Given the description of an element on the screen output the (x, y) to click on. 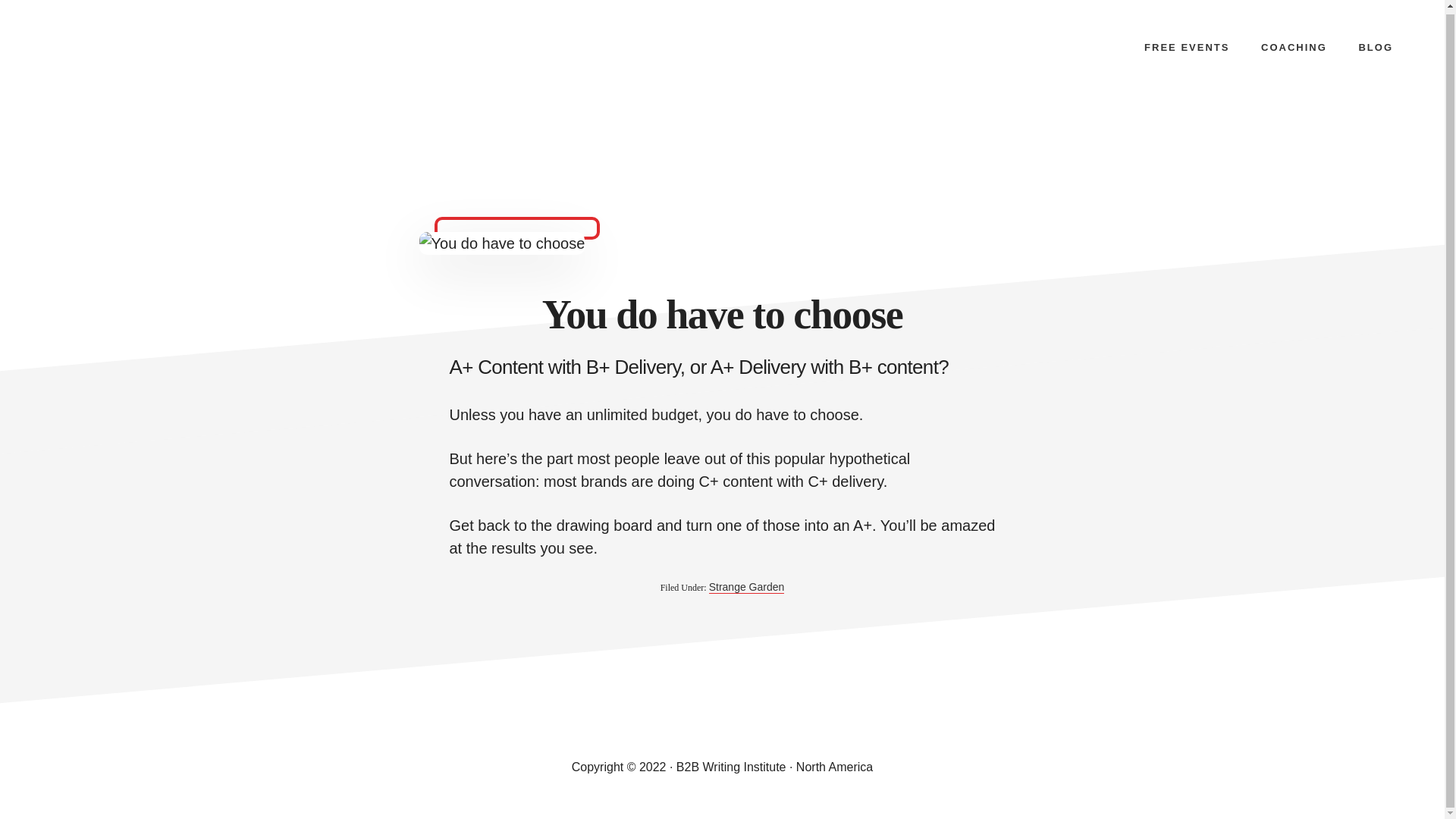
FREE EVENTS (1187, 47)
B2B WRITING INSTITUTE (94, 83)
Strange Garden (746, 586)
BLOG (1374, 47)
COACHING (1293, 47)
